Given the description of an element on the screen output the (x, y) to click on. 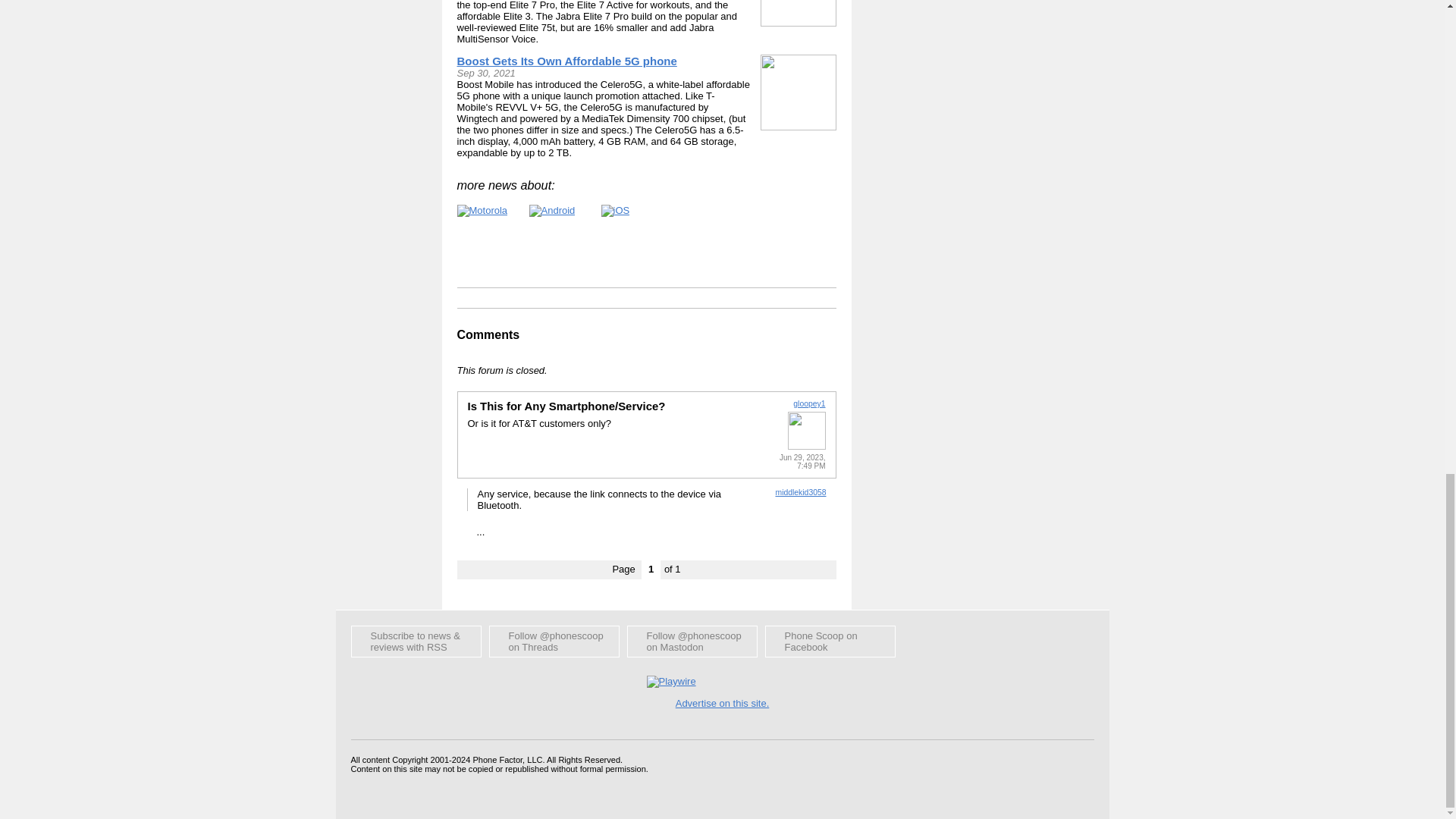
Android (552, 210)
gloopey1 (809, 403)
Comments (488, 334)
middlekid3058 (799, 492)
Motorola (481, 210)
Phone Scoop - Latest News (415, 641)
iOS (613, 210)
